Given the description of an element on the screen output the (x, y) to click on. 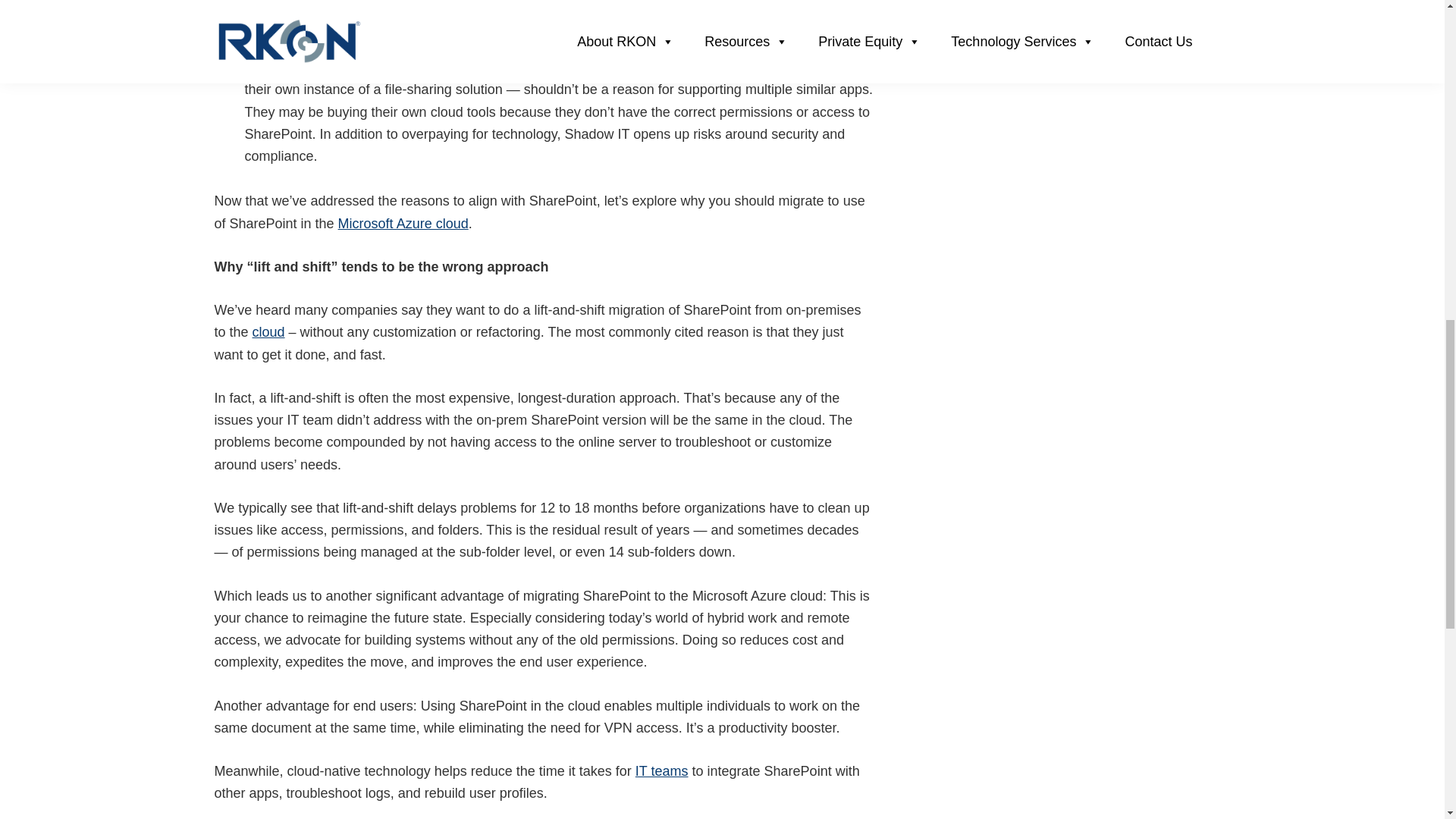
Form 0 (1077, 114)
